Given the description of an element on the screen output the (x, y) to click on. 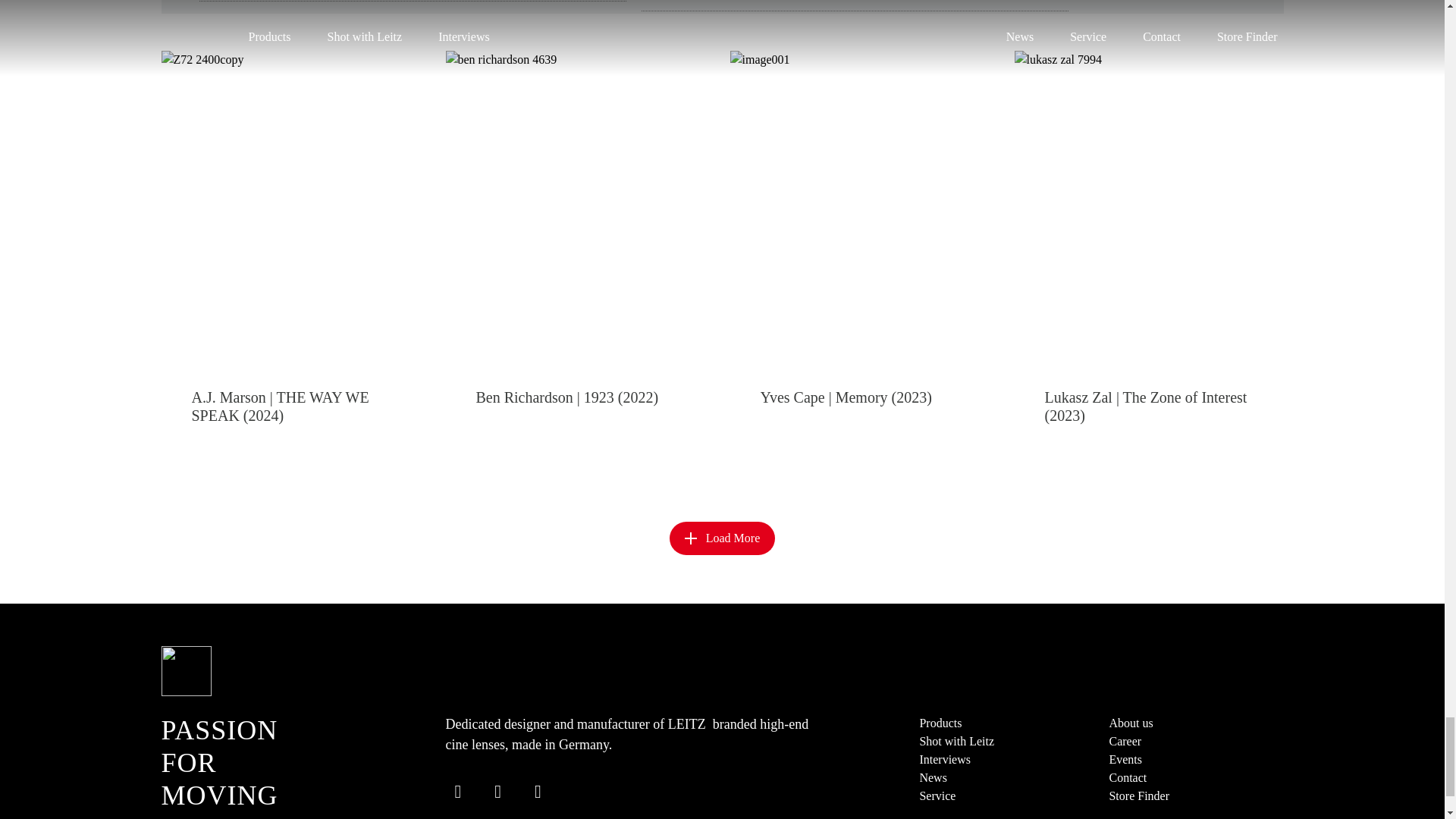
Interviews (944, 758)
Store Finder (1138, 795)
News (932, 777)
Products (939, 722)
Service (936, 795)
Career (1124, 740)
Shot with Leitz (956, 740)
Contact (1127, 777)
About us (1130, 722)
Events (1124, 758)
